Given the description of an element on the screen output the (x, y) to click on. 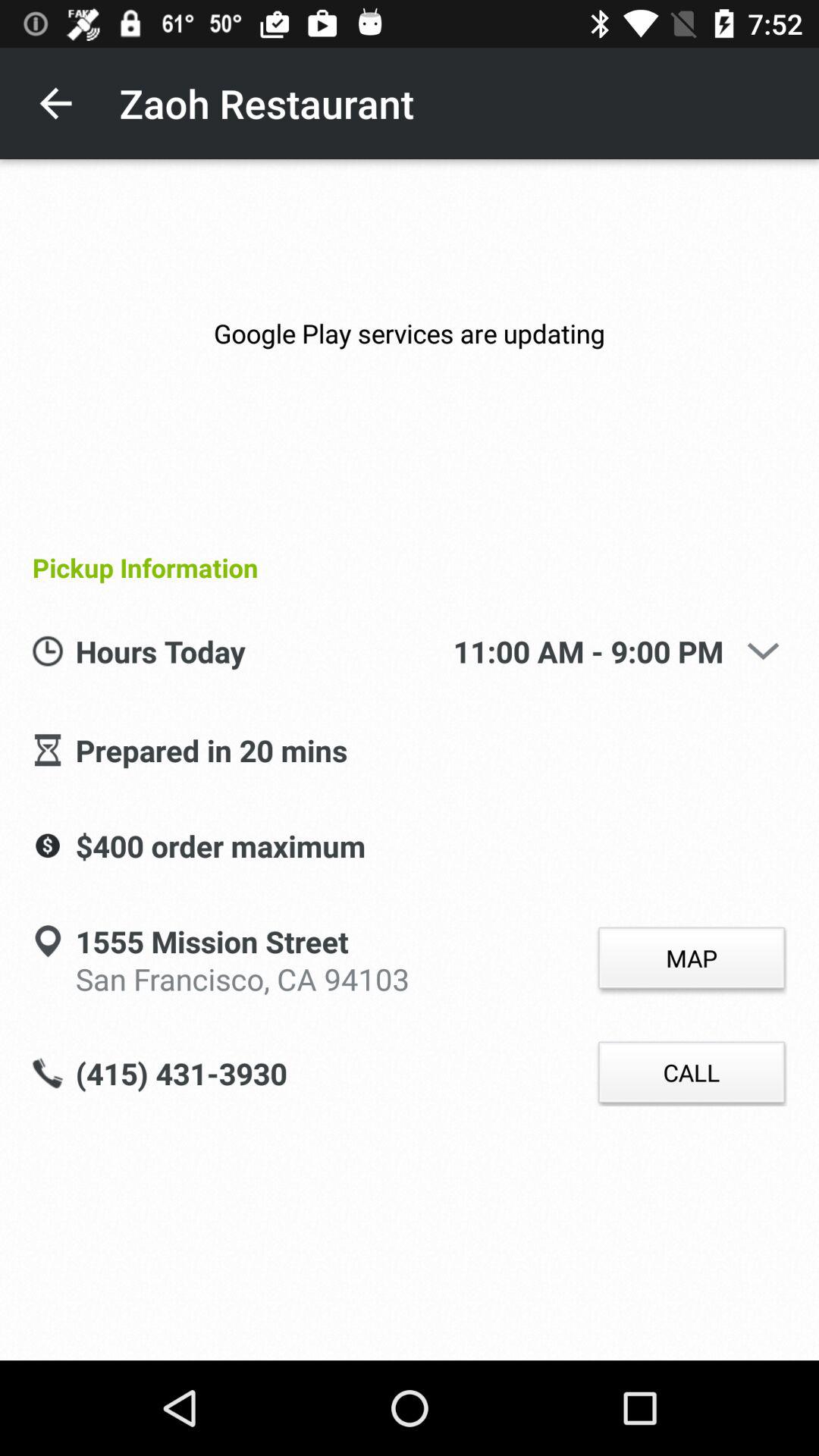
click item above the pickup information (409, 333)
